Given the description of an element on the screen output the (x, y) to click on. 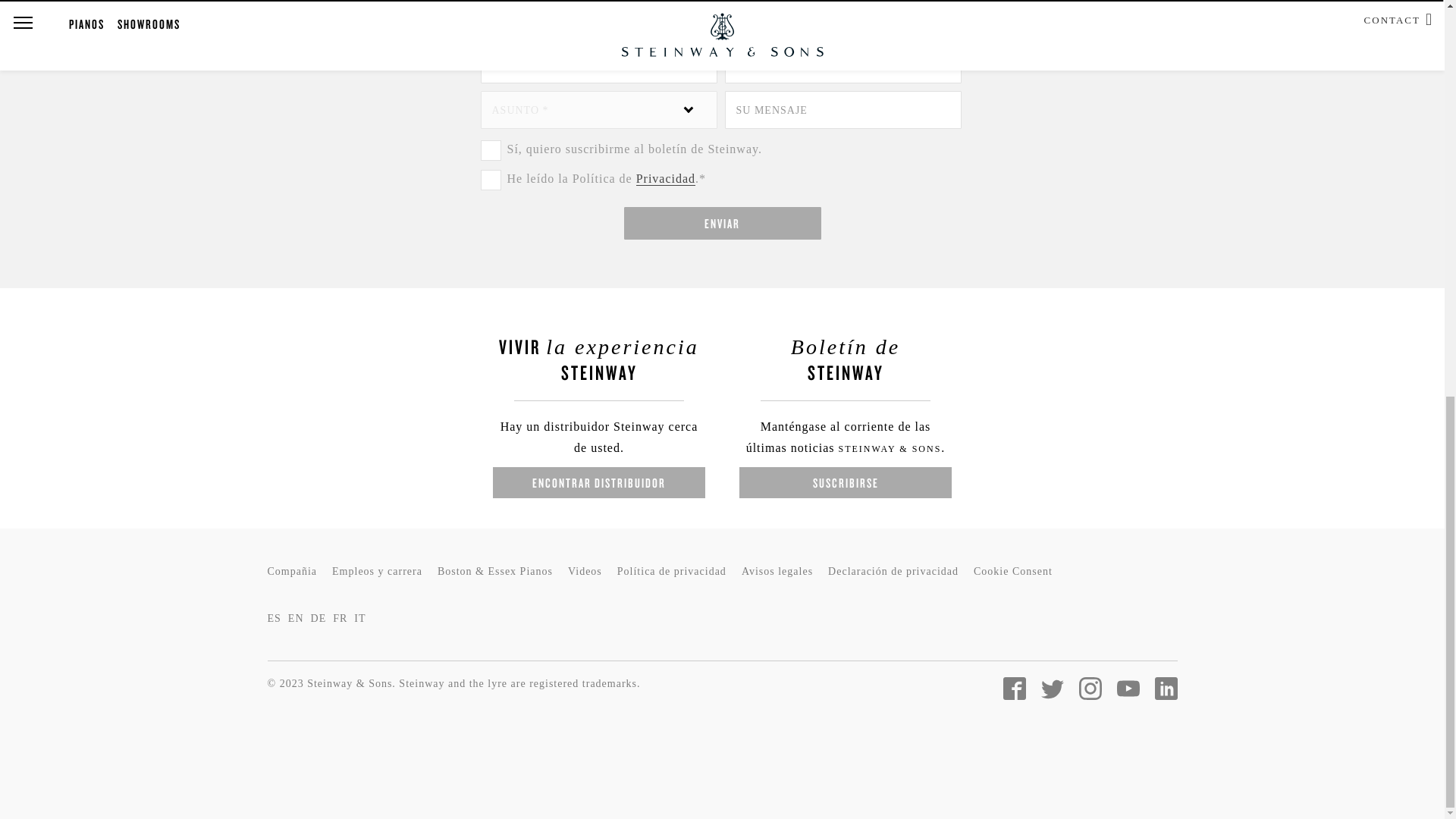
Privacidad (665, 178)
ENVIAR (722, 223)
Opens internal link in current window (665, 178)
